Given the description of an element on the screen output the (x, y) to click on. 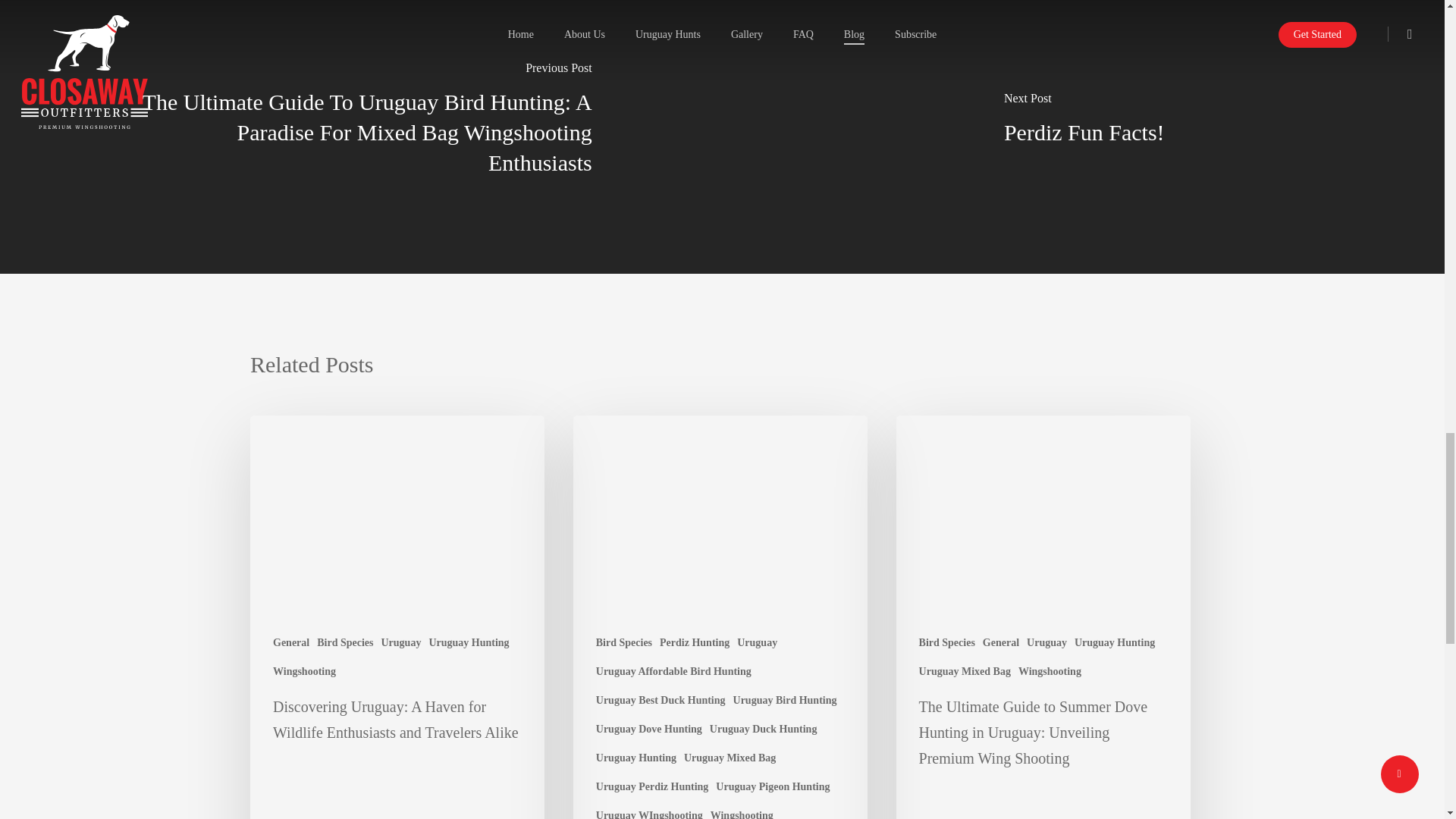
Uruguay Affordable Bird Hunting (673, 671)
Uruguay (756, 642)
Uruguay Hunting (468, 642)
Uruguay Bird Hunting (785, 699)
Bird Species (623, 642)
Perdiz Hunting (694, 642)
General (290, 642)
Uruguay Best Duck Hunting (660, 699)
Uruguay (400, 642)
Bird Species (344, 642)
Wingshooting (304, 671)
